Given the description of an element on the screen output the (x, y) to click on. 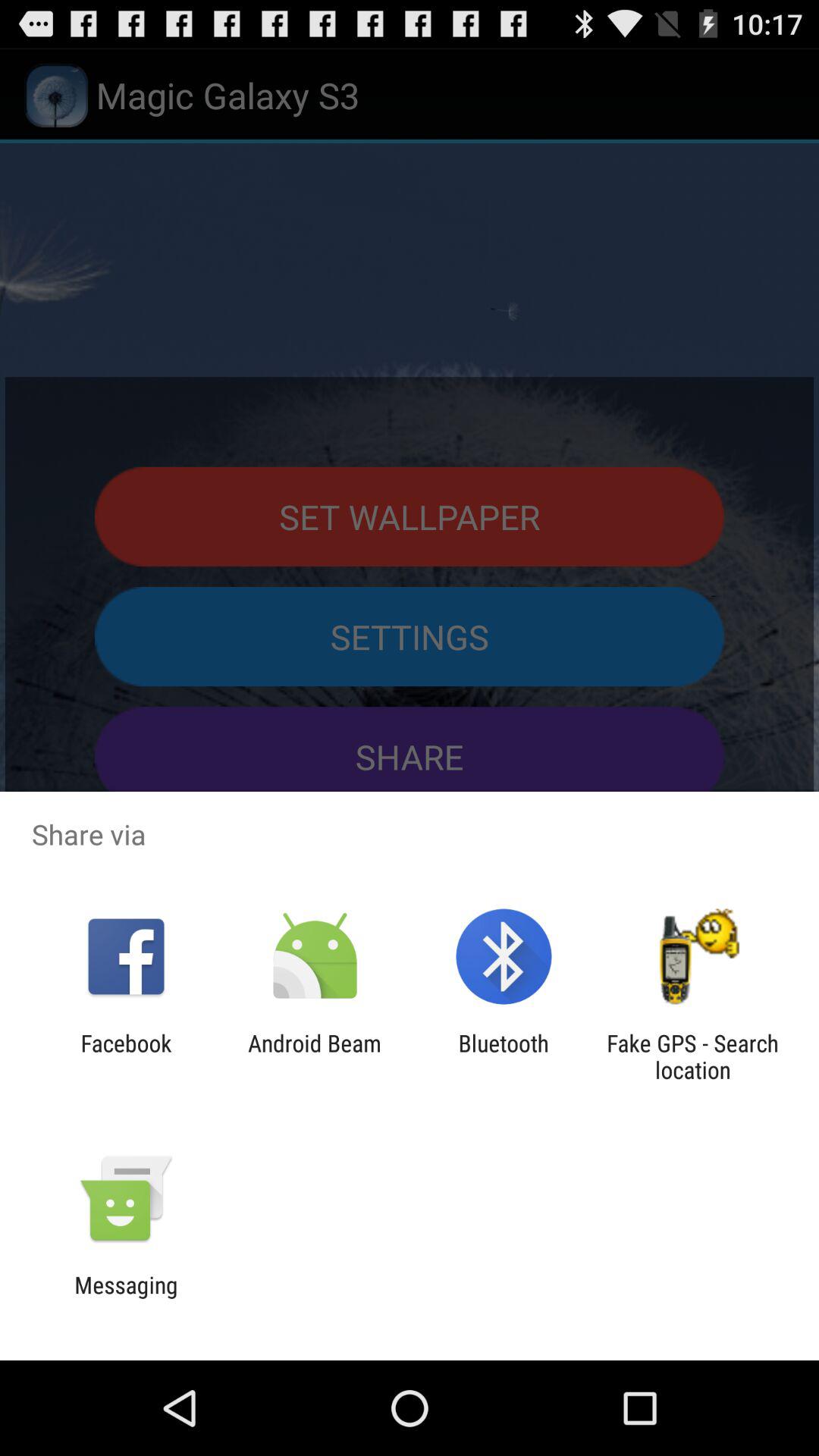
click messaging item (126, 1298)
